Given the description of an element on the screen output the (x, y) to click on. 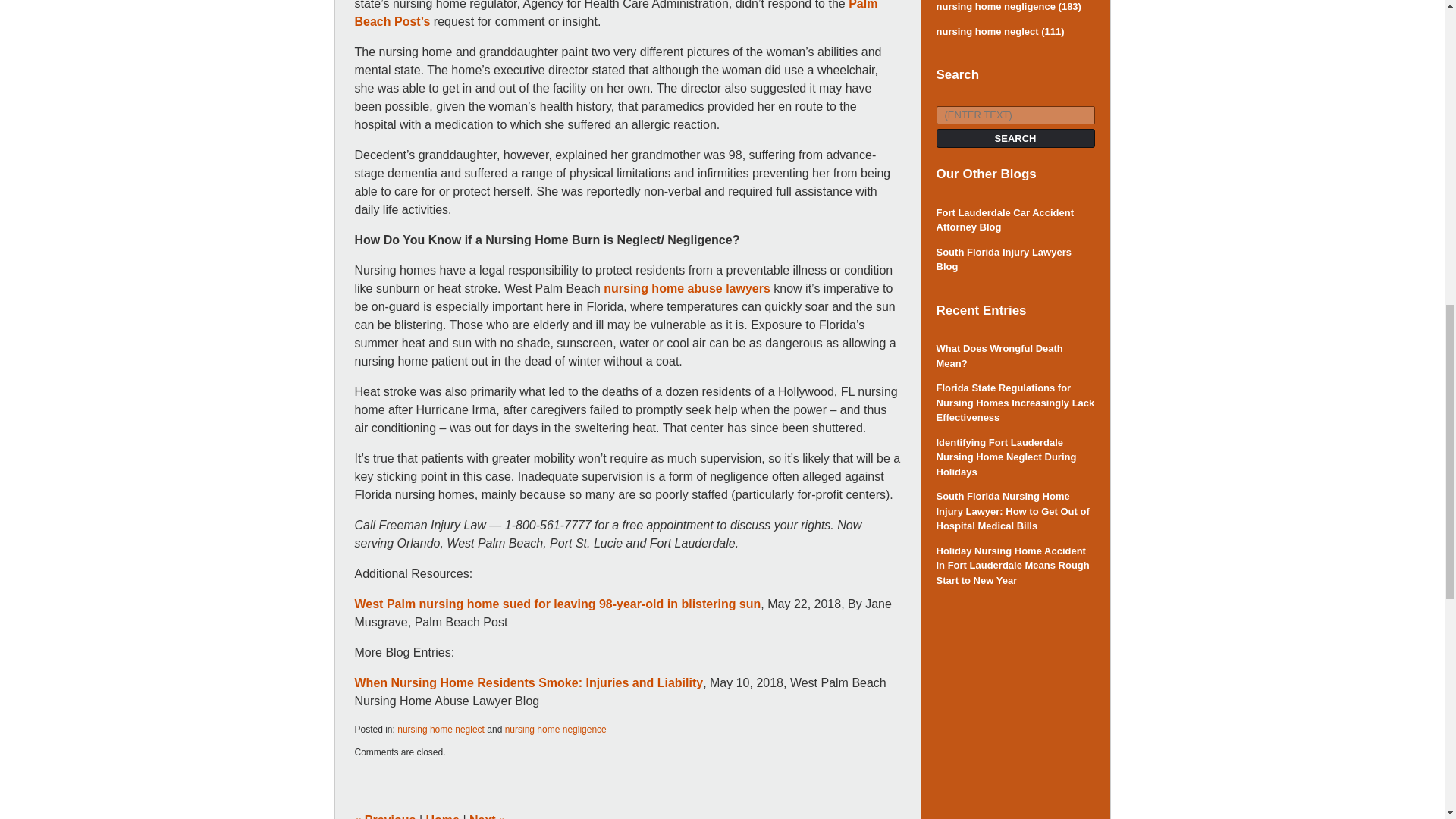
SEARCH (1015, 138)
View all posts in nursing home neglect (440, 728)
South Florida Injury Lawyers Blog (1015, 259)
Fort Lauderdale Car Accident Attorney Blog (1015, 220)
Home (443, 816)
nursing home abuse lawyers (687, 287)
View all posts in nursing home negligence (556, 728)
When Nursing Home Residents Smoke: Injuries and Liability (529, 682)
nursing home neglect (440, 728)
What Does Wrongful Death Mean? (1015, 356)
nursing home negligence (556, 728)
